Given the description of an element on the screen output the (x, y) to click on. 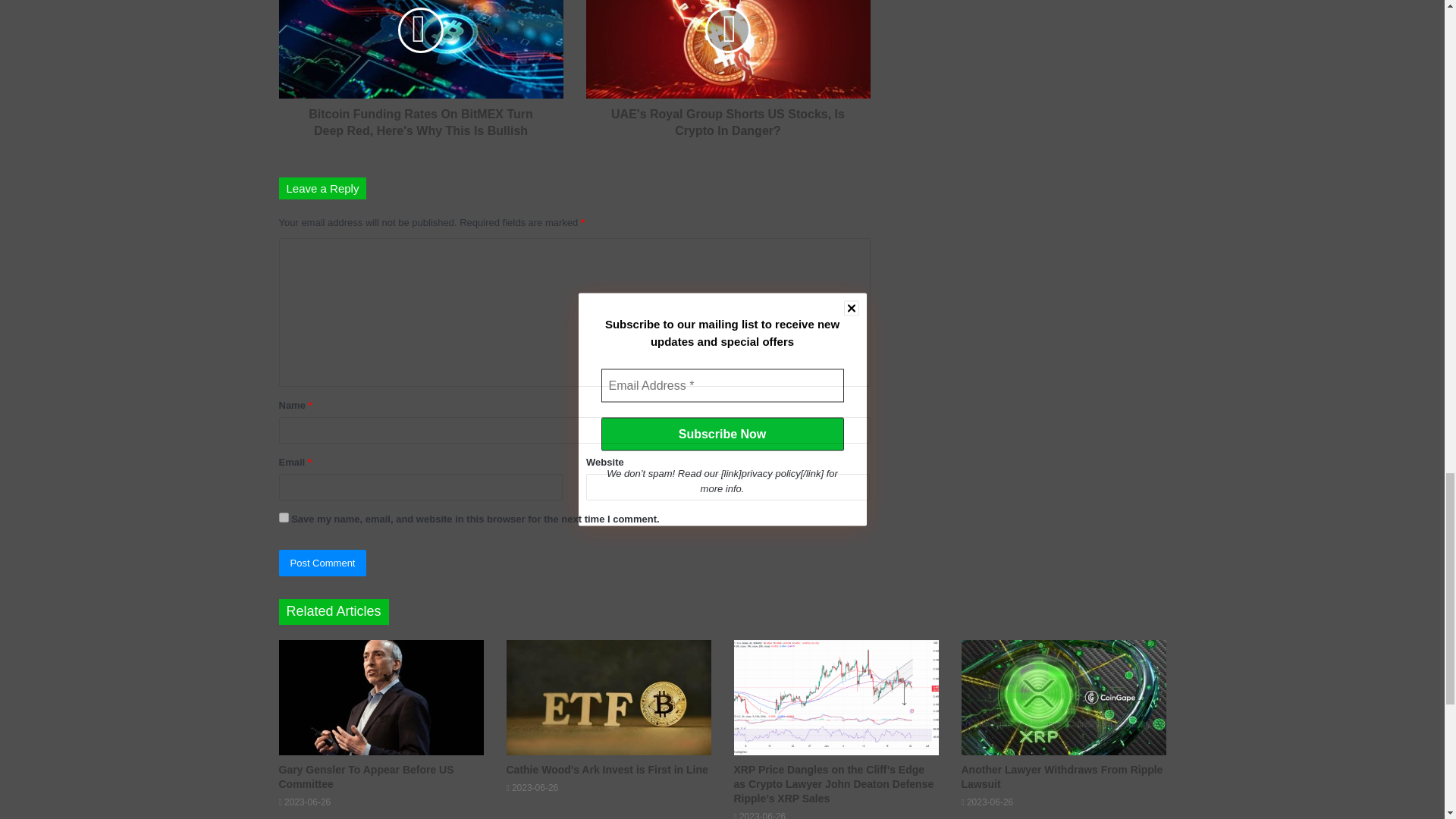
Post Comment (322, 562)
yes (283, 517)
